Given the description of an element on the screen output the (x, y) to click on. 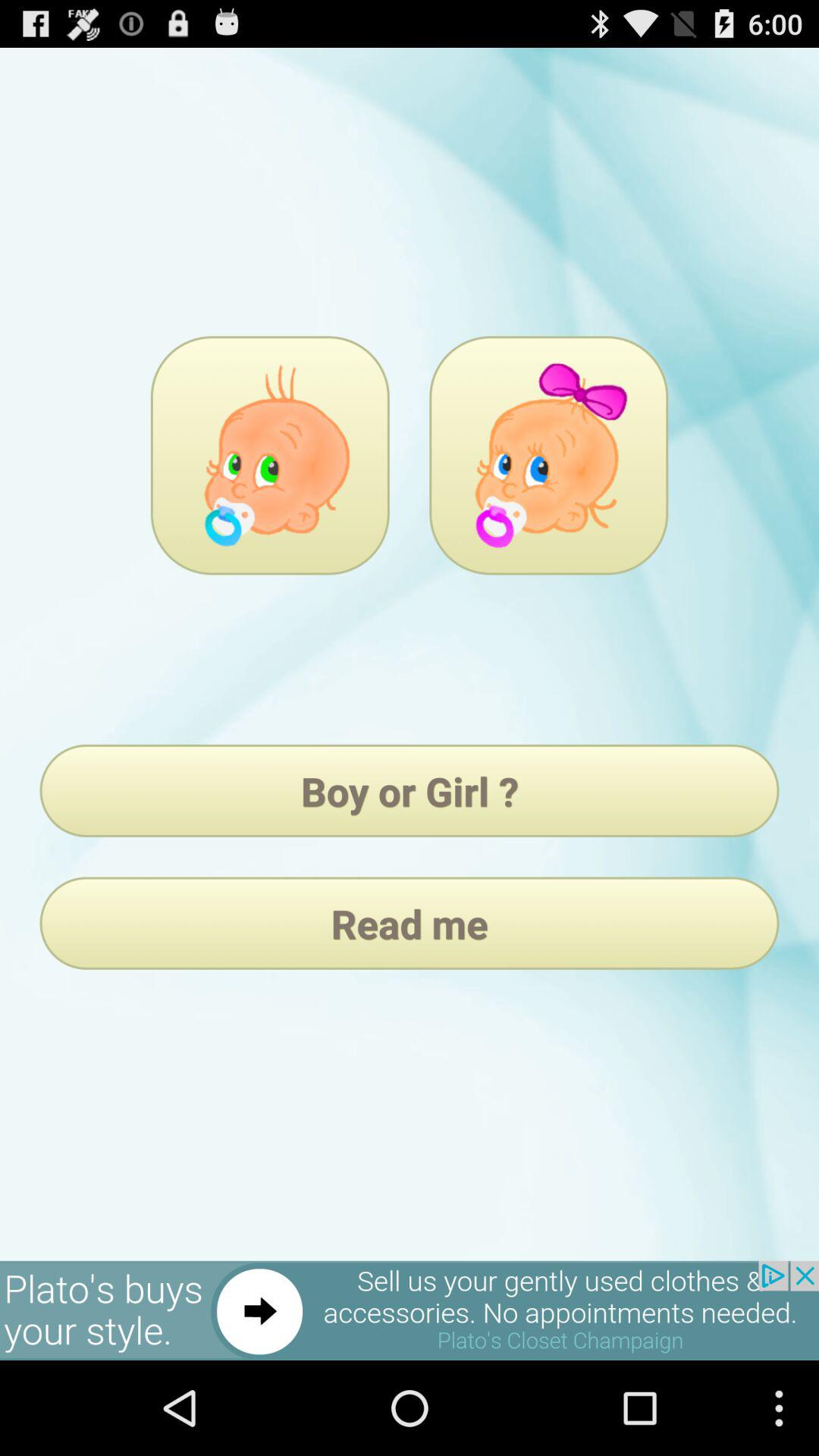
advertisement banner (409, 1310)
